Given the description of an element on the screen output the (x, y) to click on. 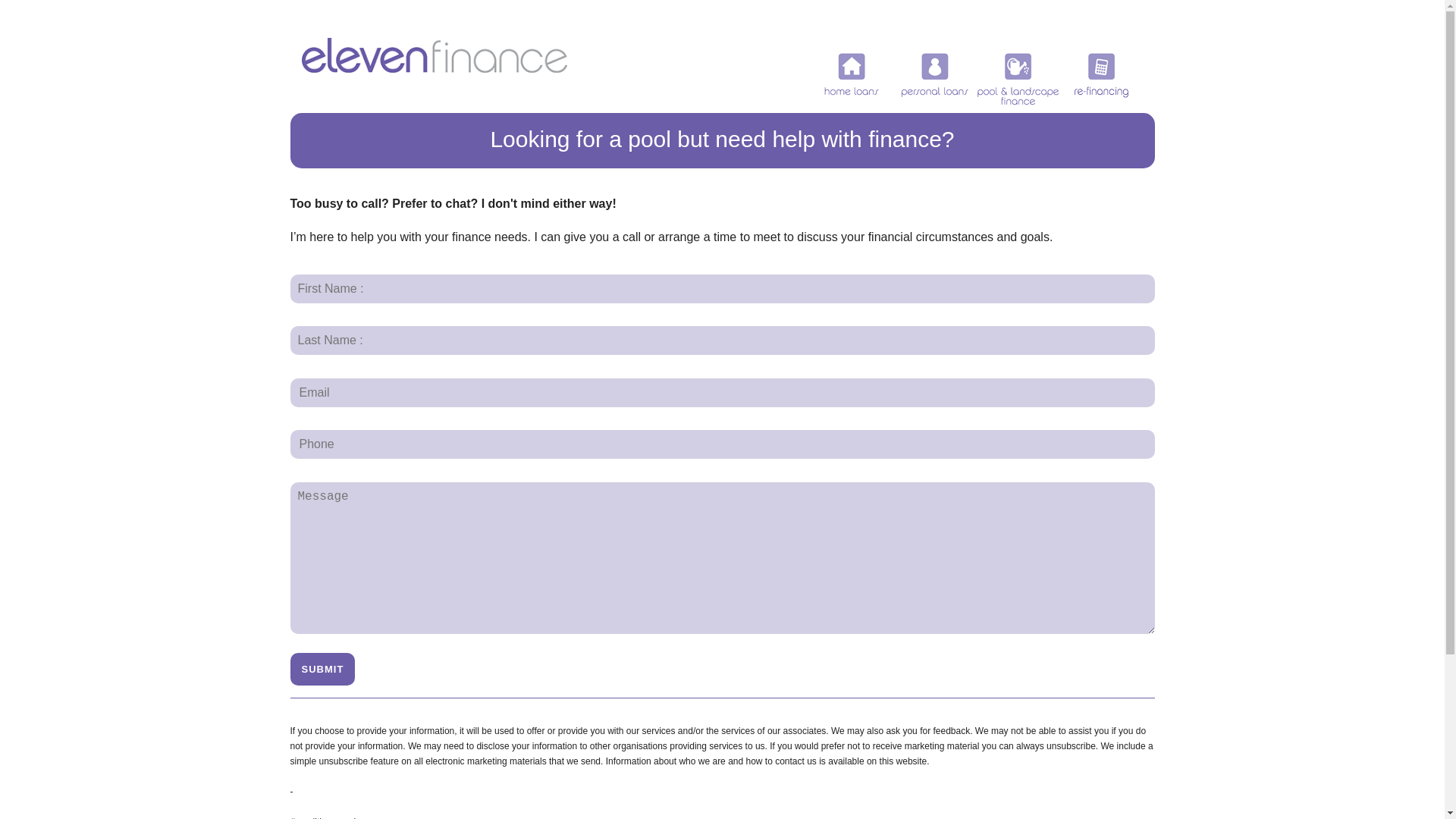
Submit Element type: text (321, 668)
